Given the description of an element on the screen output the (x, y) to click on. 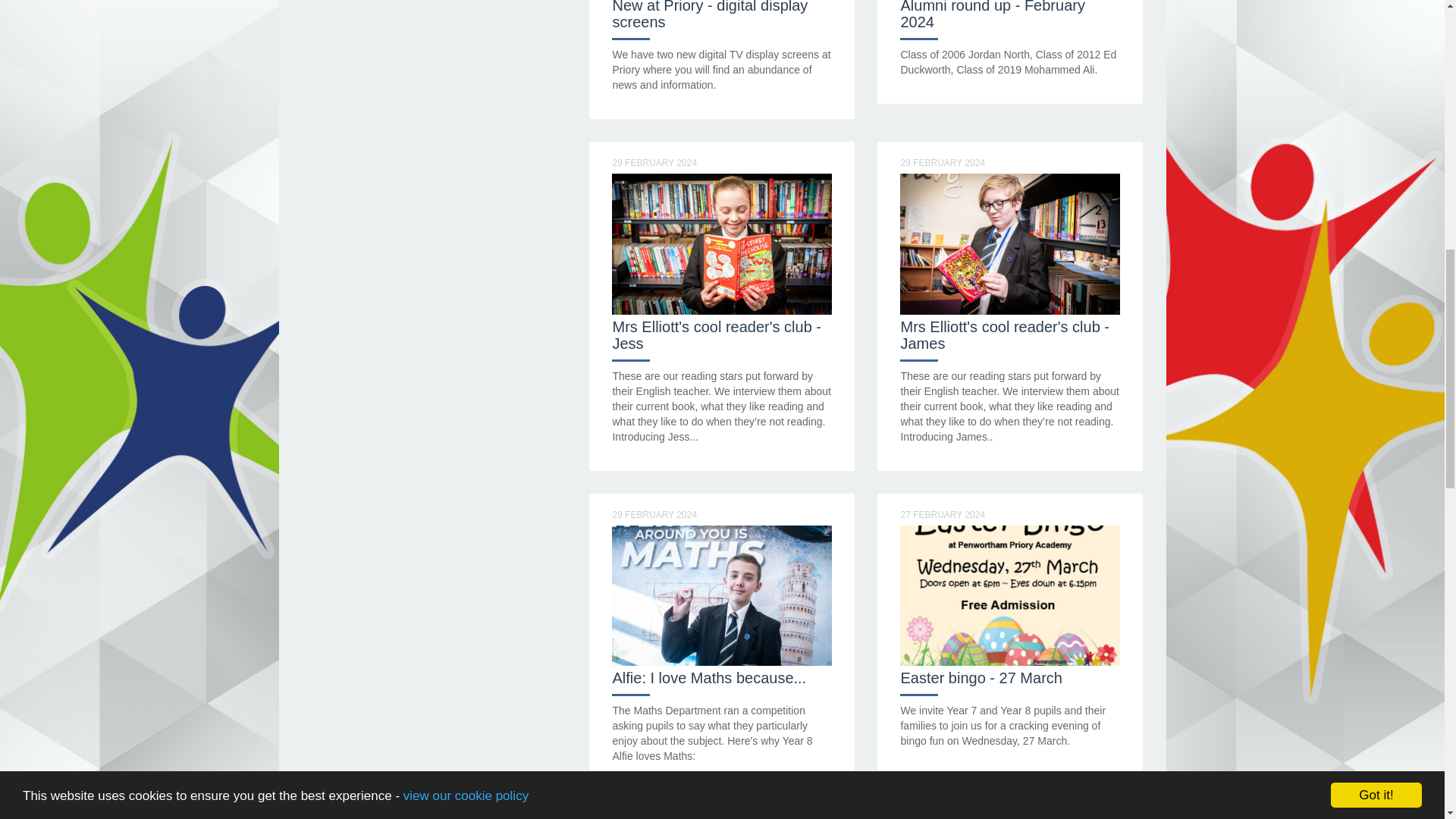
Got it! (1376, 10)
Alumni round up - February 2024 (991, 15)
Mrs Elliott's cool reader's club - Jess (716, 335)
view our cookie policy (465, 5)
New at Priory - digital display screens (709, 15)
